Given the description of an element on the screen output the (x, y) to click on. 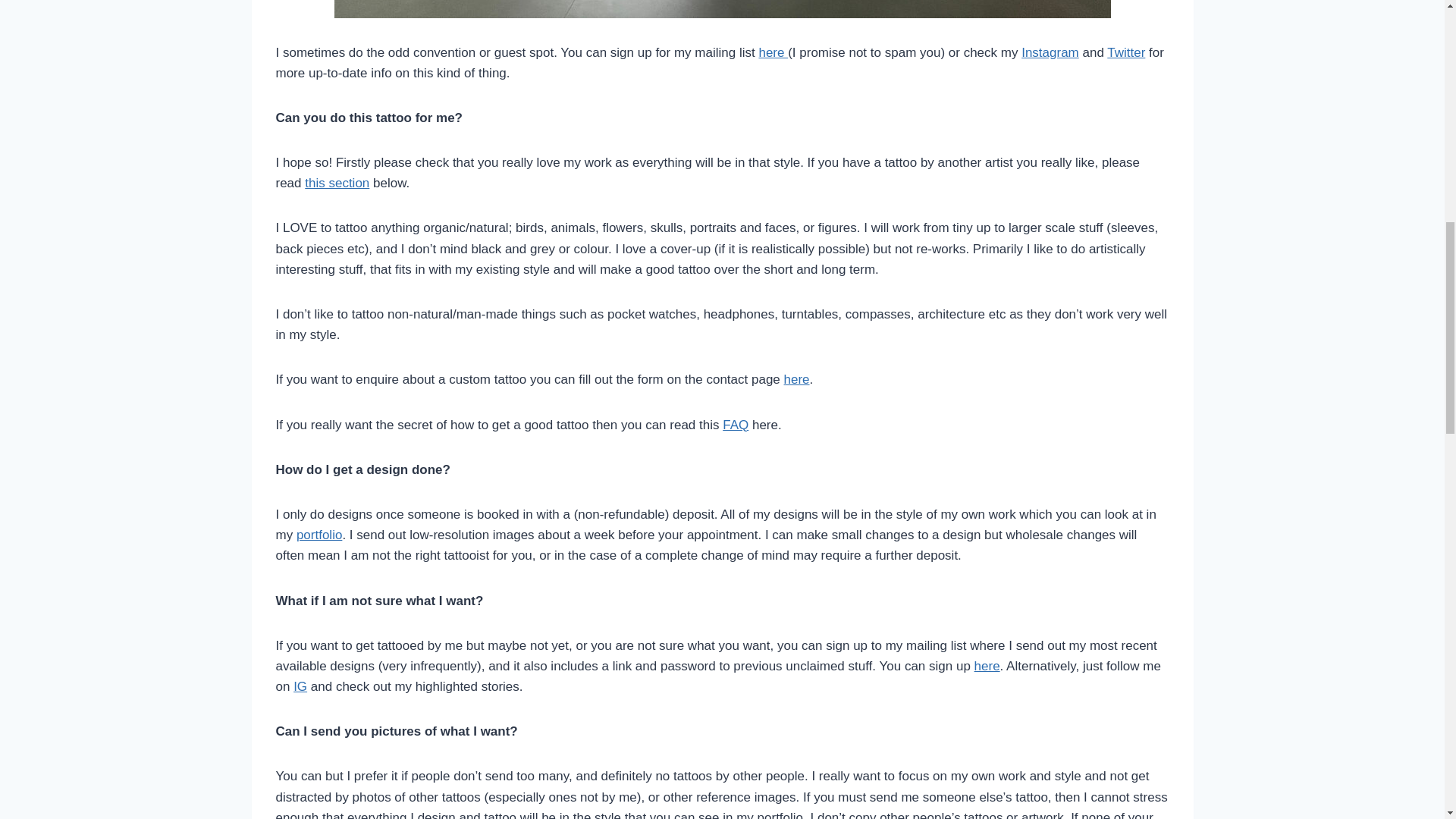
here (987, 666)
Twitter (1125, 52)
IG (300, 686)
FAQ (735, 424)
portfolio (319, 534)
this section (336, 183)
here (796, 379)
here (772, 52)
Instagram (1050, 52)
